Given the description of an element on the screen output the (x, y) to click on. 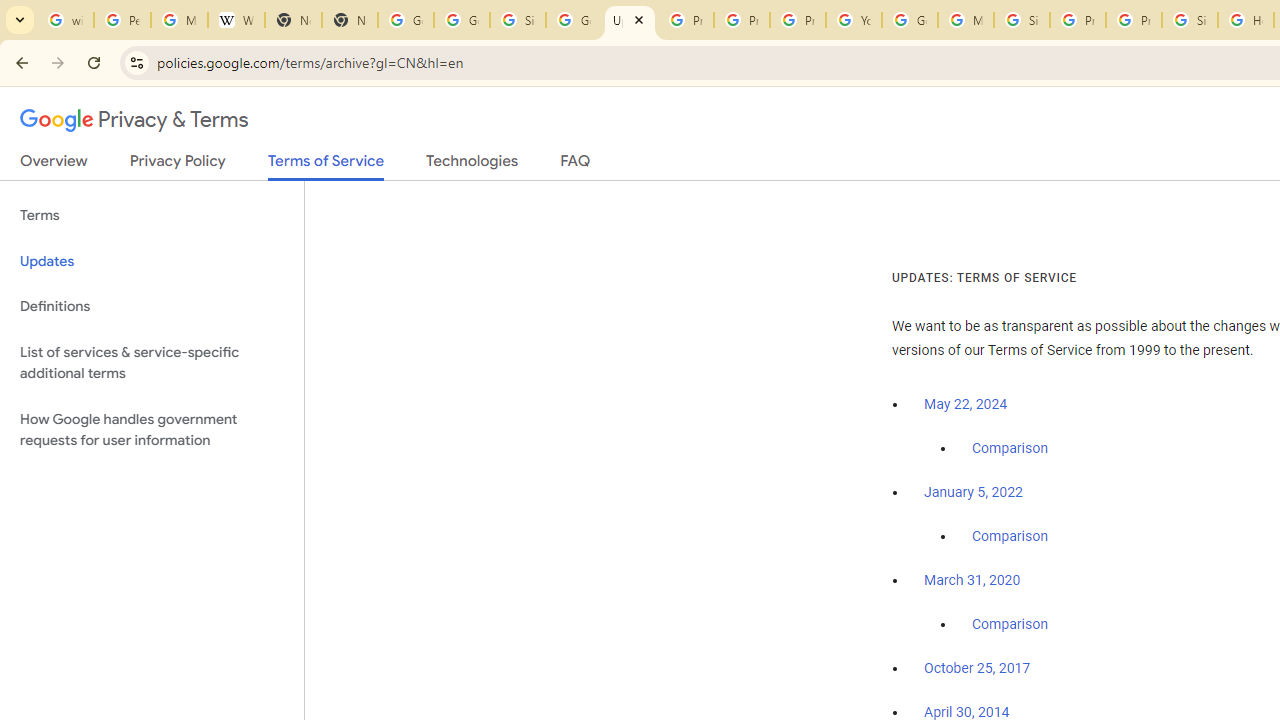
New Tab (293, 20)
Wikipedia:Edit requests - Wikipedia (235, 20)
January 5, 2022 (973, 492)
Sign in - Google Accounts (1021, 20)
How Google handles government requests for user information (152, 429)
Definitions (152, 306)
Manage your Location History - Google Search Help (179, 20)
